Given the description of an element on the screen output the (x, y) to click on. 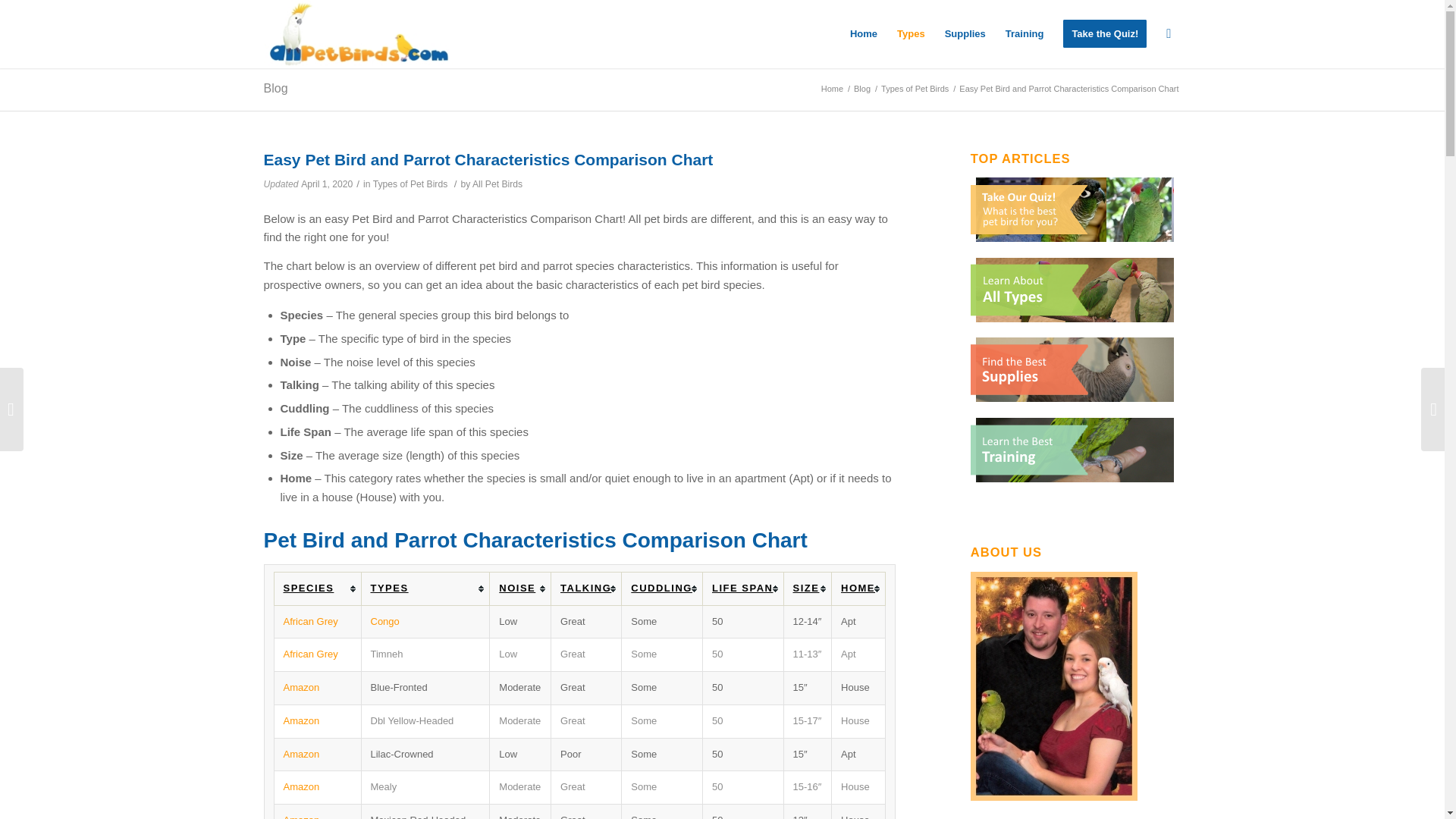
Amazon (301, 720)
African Grey (310, 621)
Permanent Link: Blog (275, 88)
Posts by All Pet Birds (496, 184)
Easy Pet Bird and Parrot Characteristics Comparison Chart (488, 159)
African Grey (310, 654)
Blog (861, 89)
Home (863, 33)
Home (831, 89)
Supplies (964, 33)
Types (910, 33)
All Pet Birds (831, 89)
Amazon (301, 786)
Amazon (301, 686)
Amazon (301, 816)
